Given the description of an element on the screen output the (x, y) to click on. 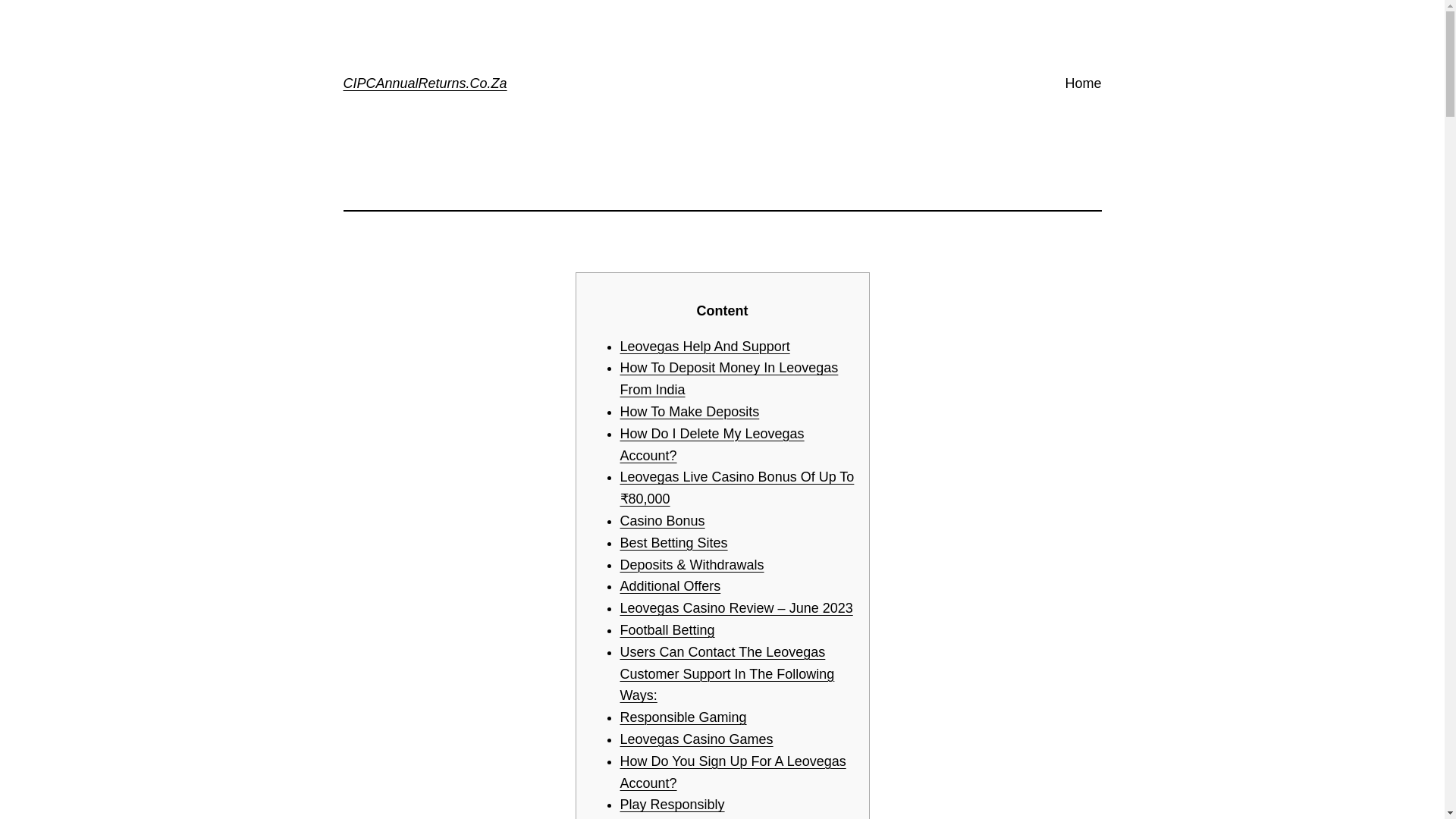
CIPCAnnualReturns.Co.Za (424, 83)
Best Betting Sites (674, 542)
How Do I Delete My Leovegas Account? (712, 444)
Home (1082, 83)
Responsible Gaming (683, 717)
How Do You Sign Up For A Leovegas Account? (732, 772)
Leovegas Casino Games (696, 739)
Leovegas Help And Support (705, 346)
Additional Offers (670, 585)
Casino Bonus (662, 520)
